Given the description of an element on the screen output the (x, y) to click on. 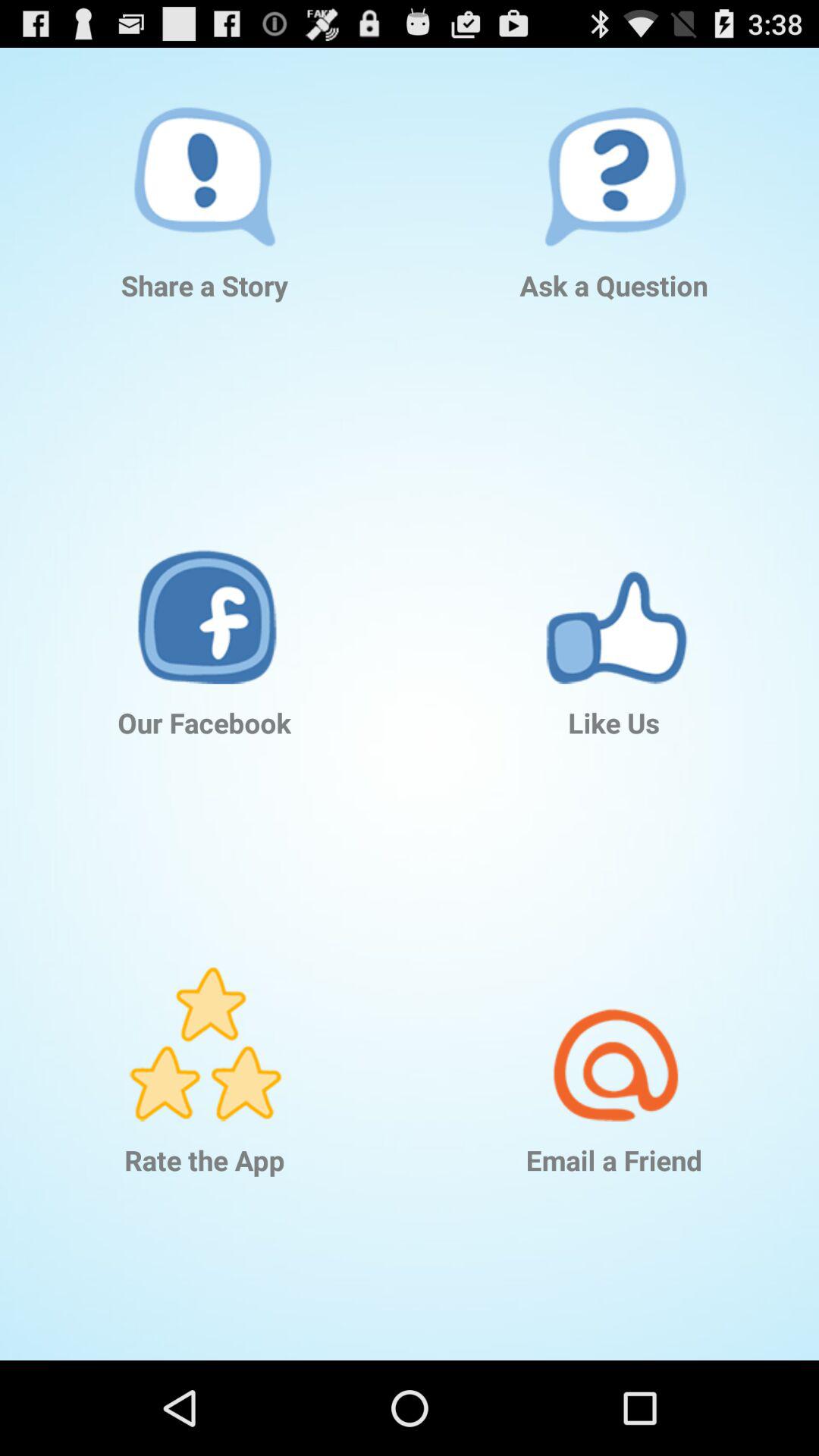
open the item below the ask a question icon (613, 584)
